Given the description of an element on the screen output the (x, y) to click on. 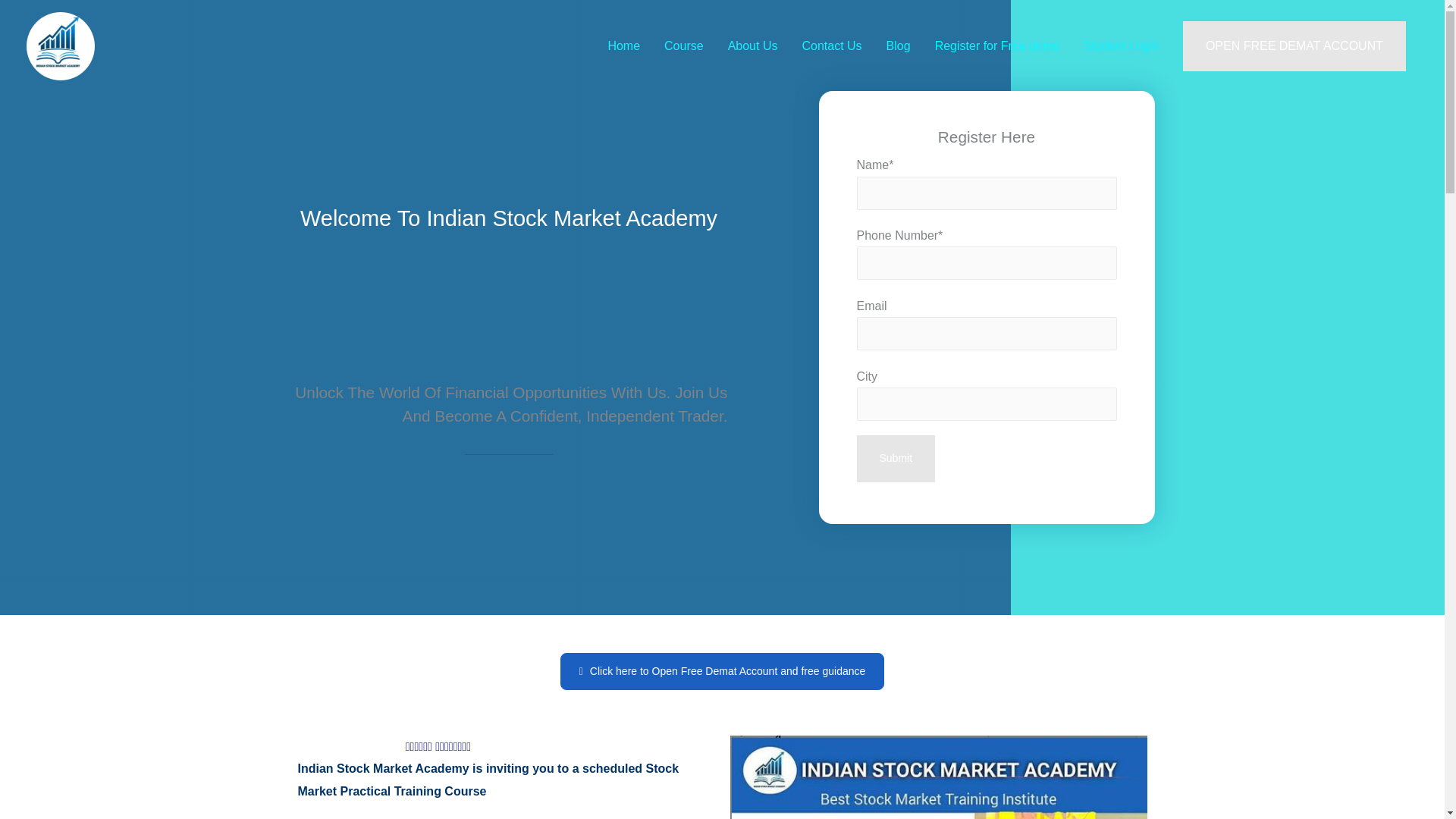
Submit (896, 458)
Submit (896, 458)
Student Login (1120, 46)
Click here to Open Free Demat Account and free guidance (722, 671)
OPEN FREE DEMAT ACCOUNT (1294, 46)
Contact Us (831, 46)
Register for Free demo (997, 46)
